Given the description of an element on the screen output the (x, y) to click on. 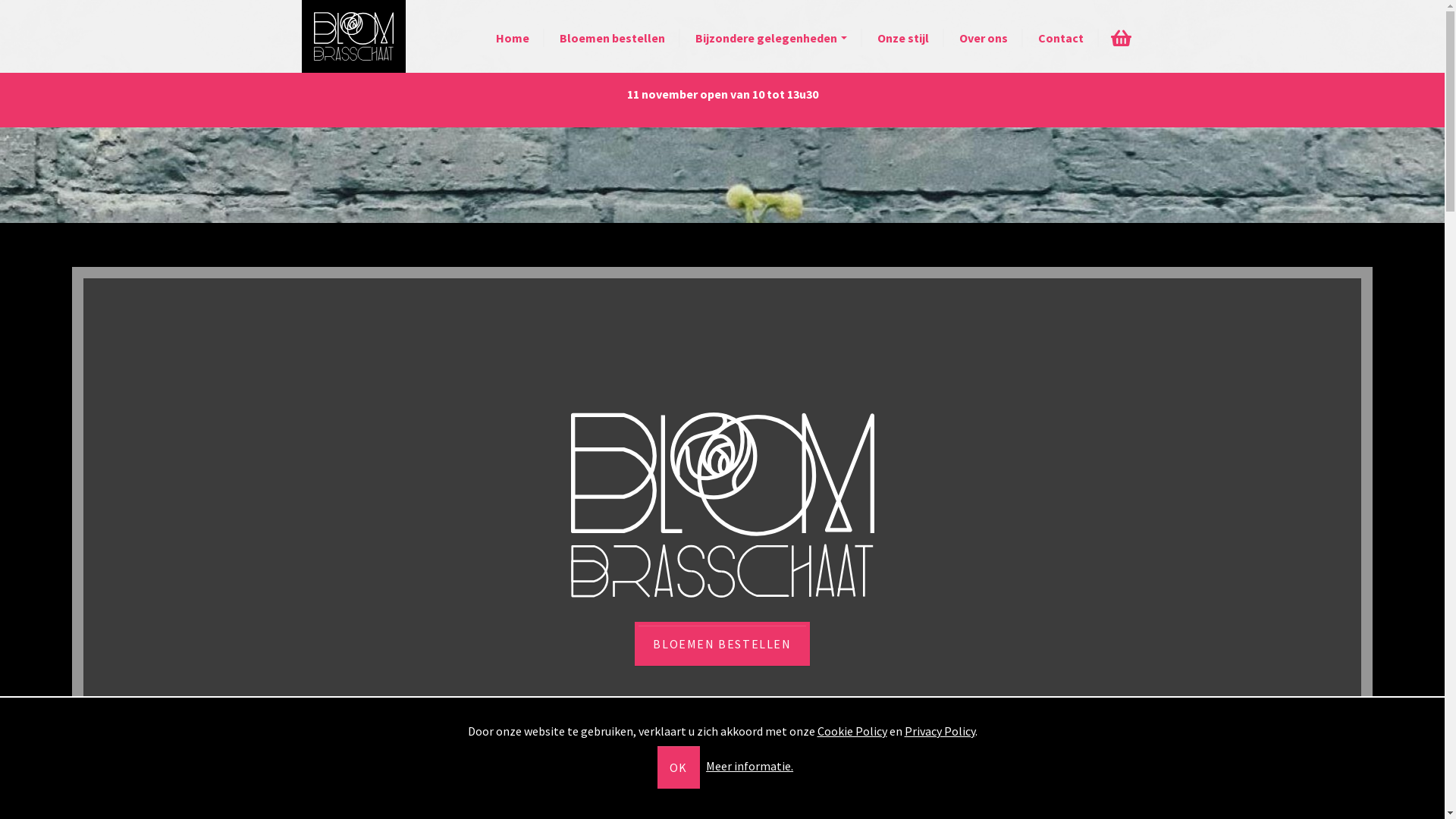
Over ons Element type: text (982, 37)
Contact Element type: text (1060, 37)
Privacy Policy Element type: text (938, 730)
BLOEMEN BESTELLEN Element type: text (721, 643)
Bloom Brasschaat Element type: hover (353, 36)
Bloemen bestellen Element type: text (612, 37)
Bijzondere gelegenheden Element type: text (770, 37)
Cookie Policy Element type: text (852, 730)
Home Element type: text (512, 37)
Meer informatie. Element type: text (749, 765)
View your shopping cart Element type: hover (1120, 37)
Onze stijl Element type: text (902, 37)
